Given the description of an element on the screen output the (x, y) to click on. 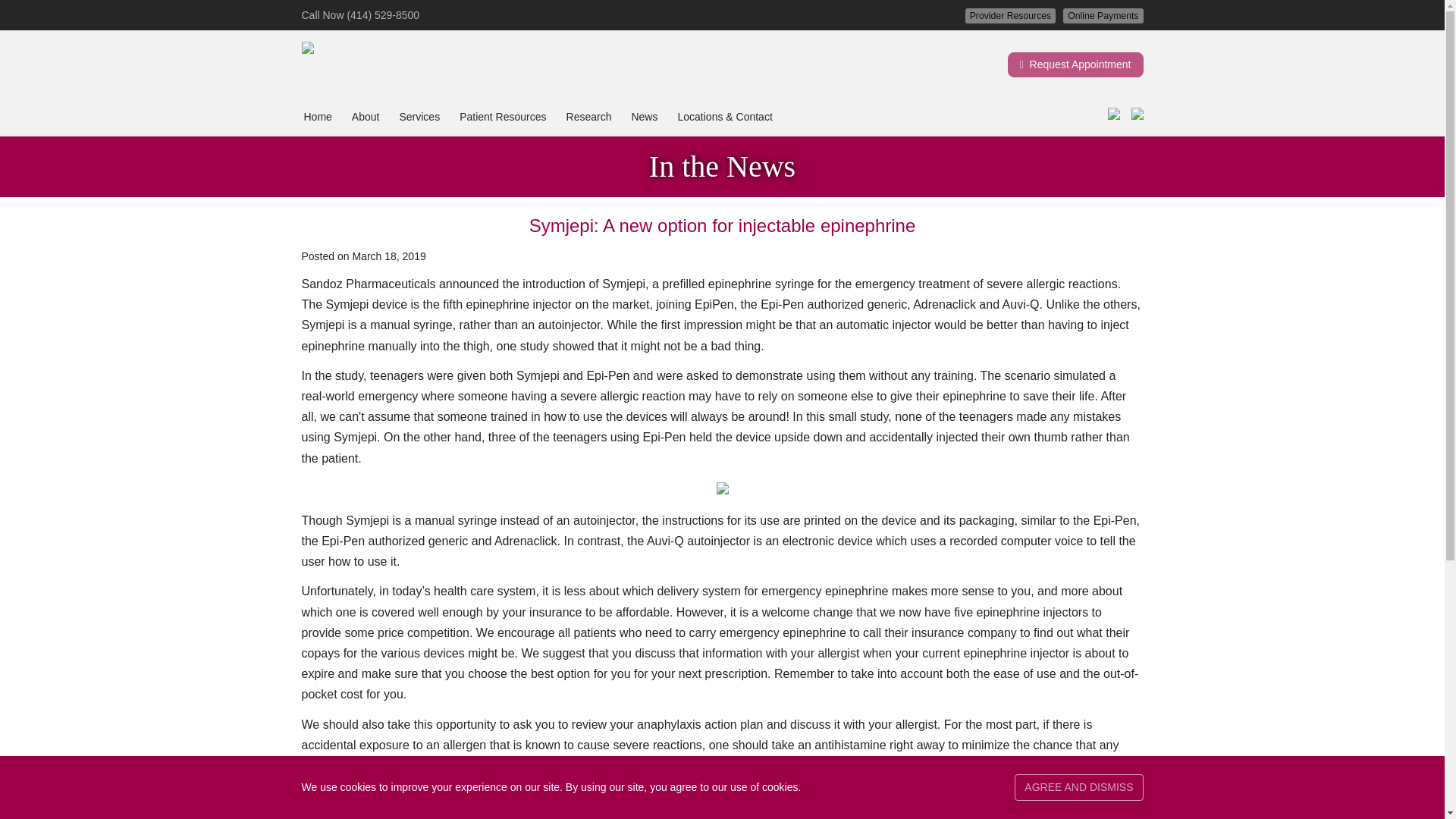
AGREE AND DISMISS (1078, 786)
Services (419, 117)
Research (588, 117)
  Request Appointment (1074, 63)
Online Payments (1102, 15)
Provider Resources (1011, 15)
About (365, 117)
News (643, 117)
Home (317, 117)
Patient Resources (501, 117)
